Given the description of an element on the screen output the (x, y) to click on. 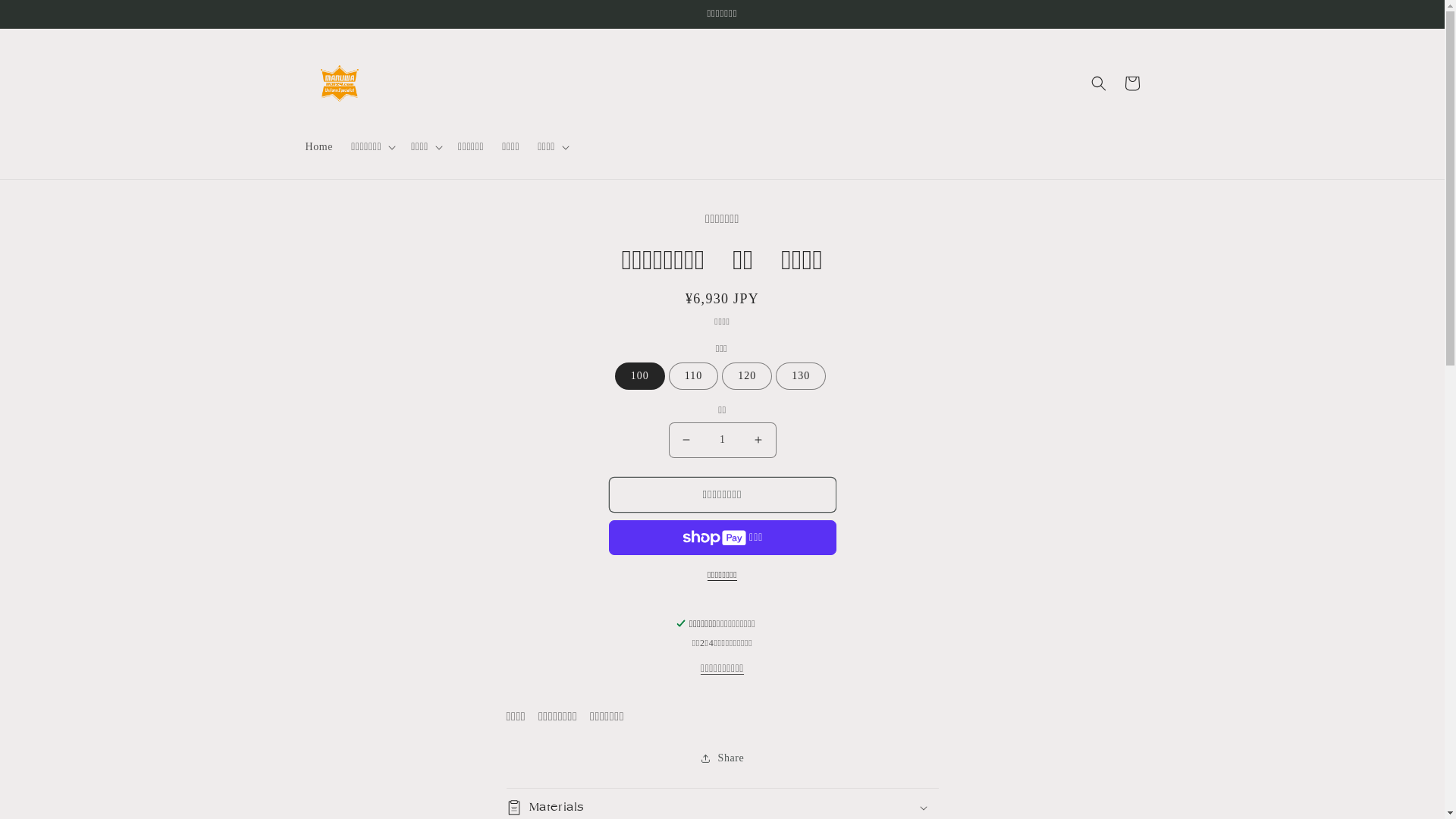
Home Element type: text (318, 147)
